Given the description of an element on the screen output the (x, y) to click on. 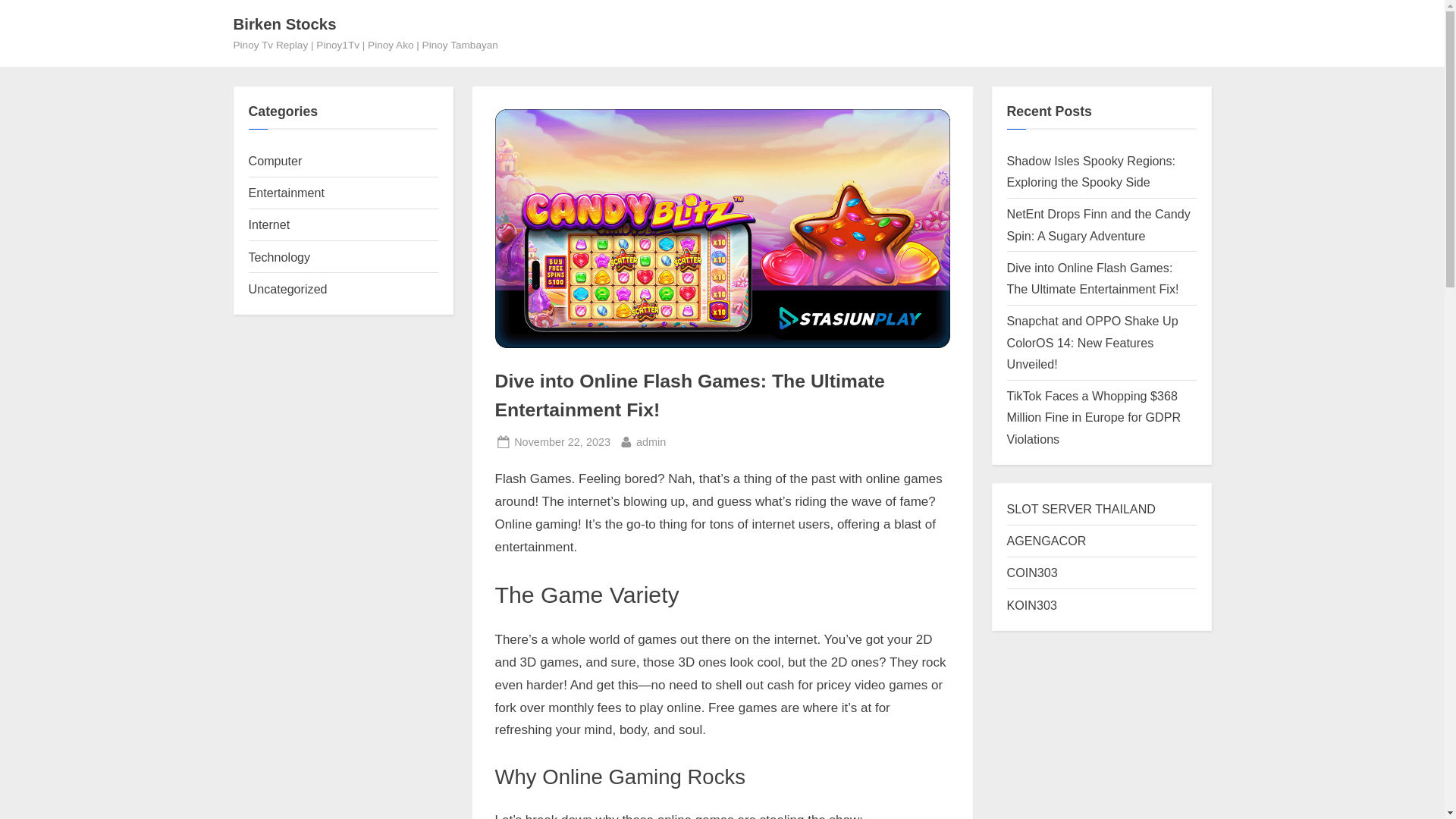
Computer (275, 160)
COIN303 (1032, 572)
KOIN303 (561, 442)
SLOT SERVER THAILAND (1032, 604)
Internet (650, 442)
Birken Stocks (1081, 508)
Uncategorized (268, 223)
NetEnt Drops Finn and the Candy Spin: A Sugary Adventure (284, 23)
Shadow Isles Spooky Regions: Exploring the Spooky Side (287, 288)
Technology (1099, 224)
Entertainment (1091, 171)
